Given the description of an element on the screen output the (x, y) to click on. 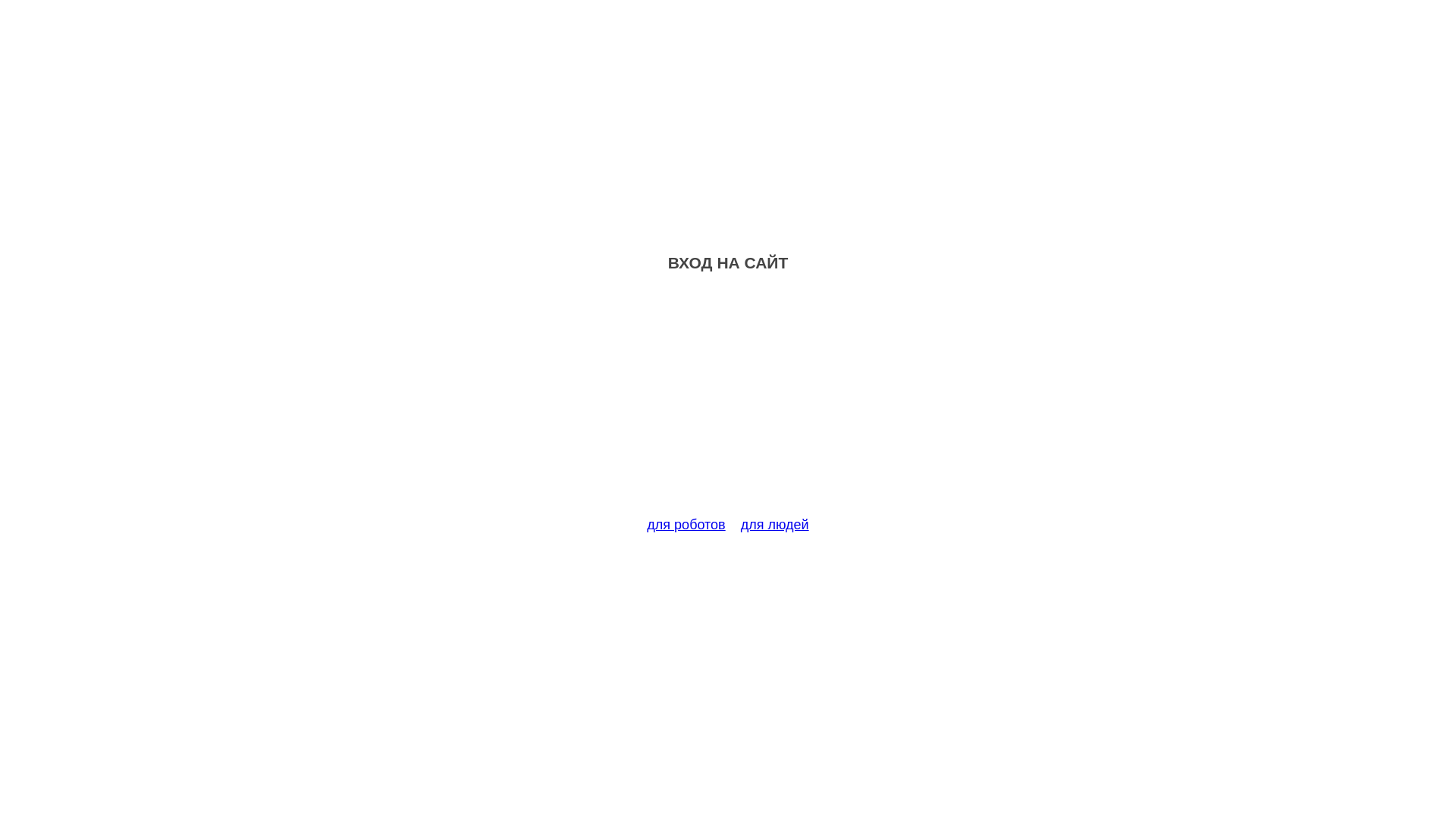
Advertisement Element type: hover (727, 403)
